Given the description of an element on the screen output the (x, y) to click on. 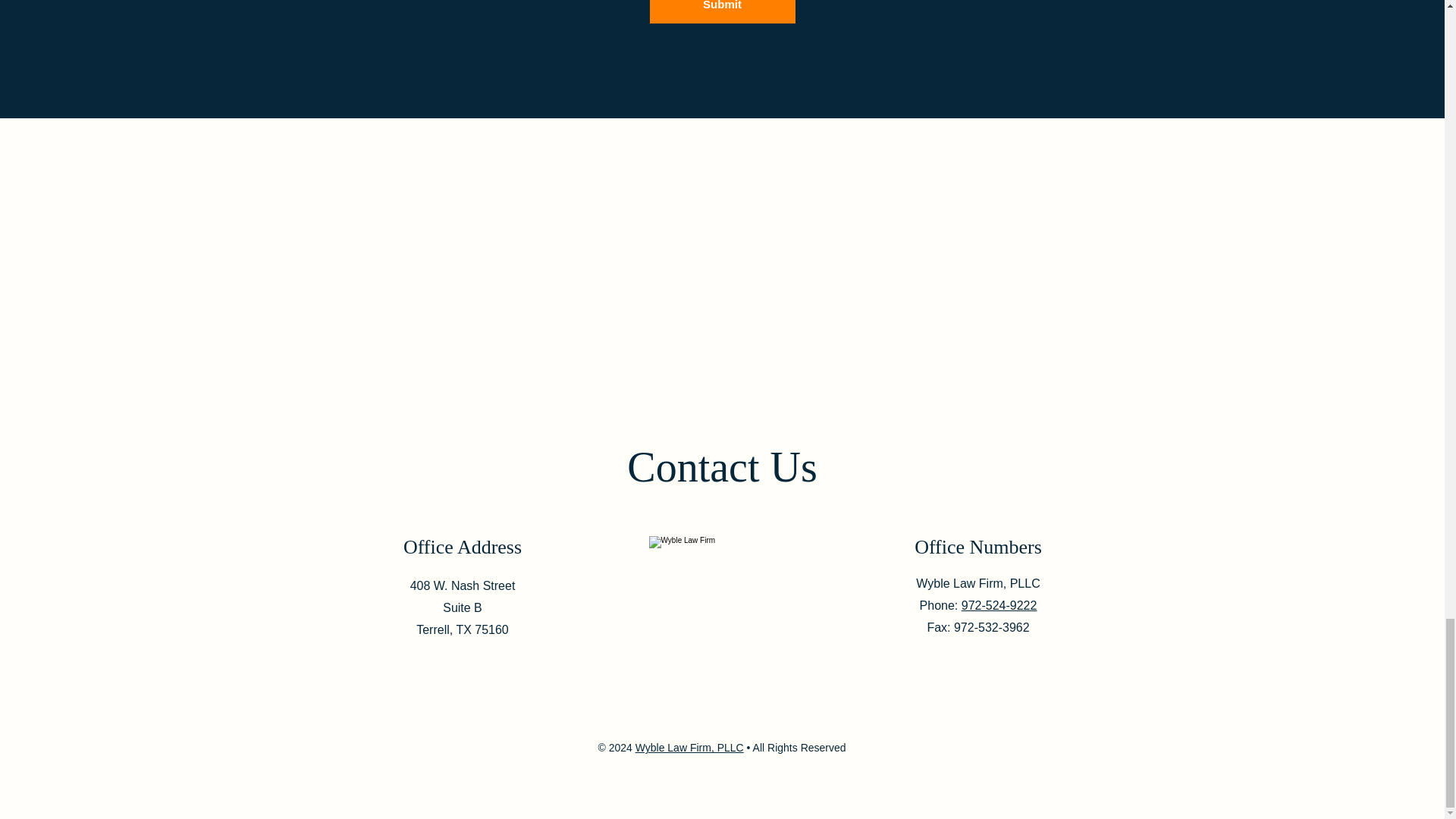
Wyble Law Firm, PLLC (689, 747)
footer-logo.webp (721, 559)
Submit (721, 11)
